Given the description of an element on the screen output the (x, y) to click on. 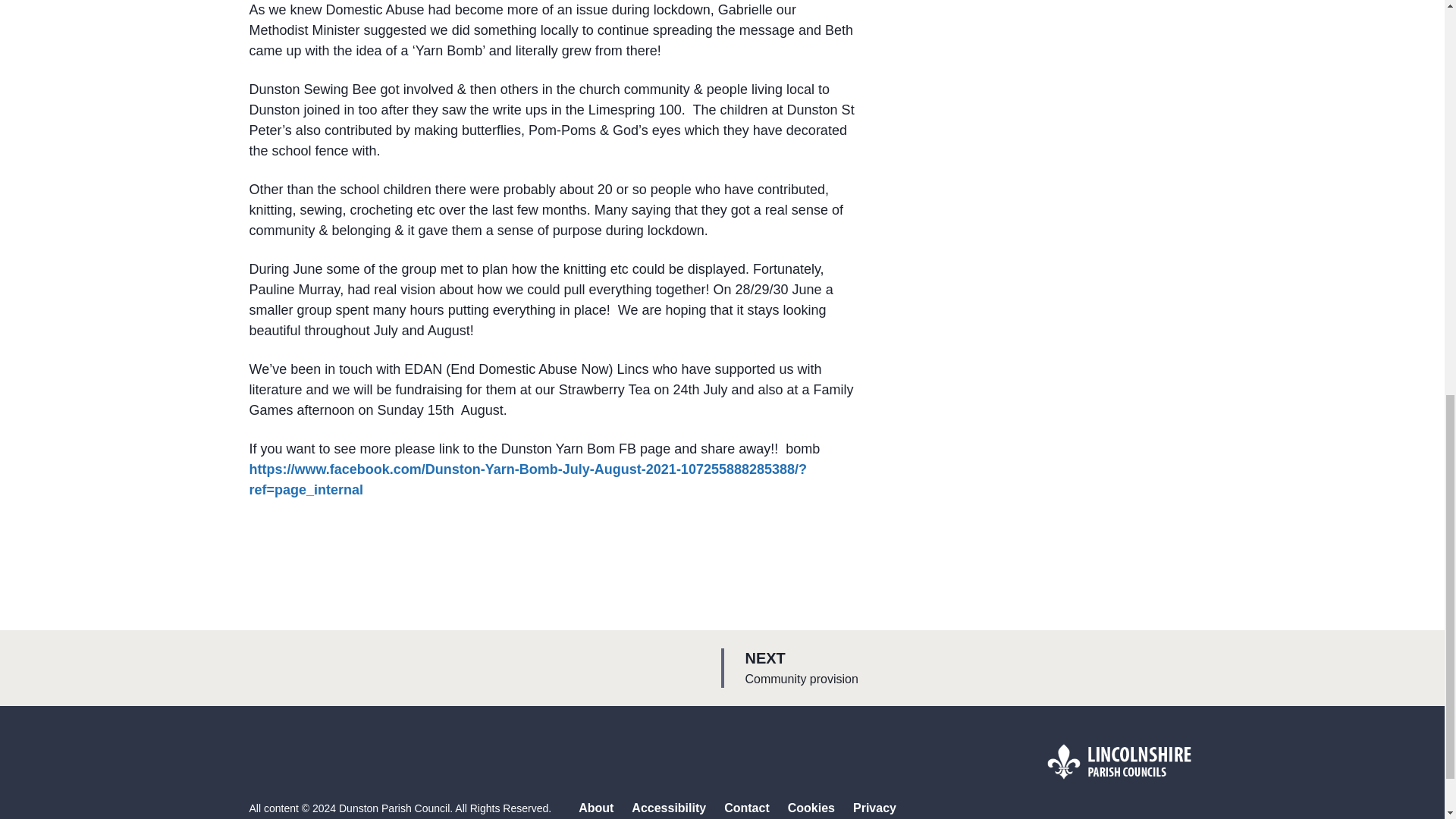
Cookies (969, 667)
Privacy (810, 807)
Contact (874, 807)
Logo: Visit the Dunston Parish Council home page (746, 807)
About (1119, 761)
Accessibility (595, 807)
